Given the description of an element on the screen output the (x, y) to click on. 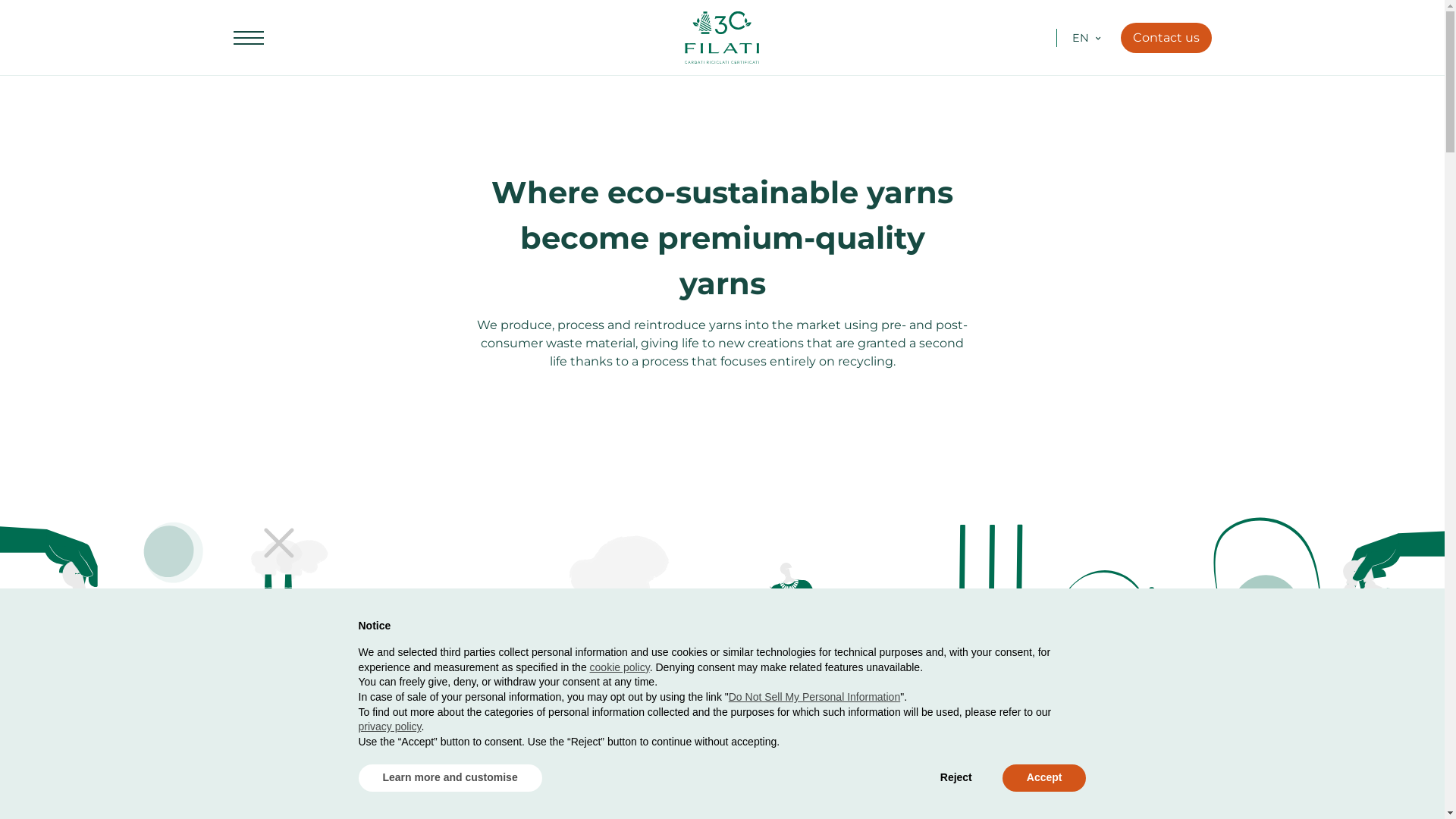
Learn more and customise Element type: text (449, 777)
Accept Element type: text (1044, 777)
privacy policy Element type: text (388, 726)
cookie policy Element type: text (619, 667)
Contact us Element type: text (1165, 37)
Reject Element type: text (956, 777)
EN Element type: text (1080, 36)
Do Not Sell My Personal Information Element type: text (814, 696)
